Given the description of an element on the screen output the (x, y) to click on. 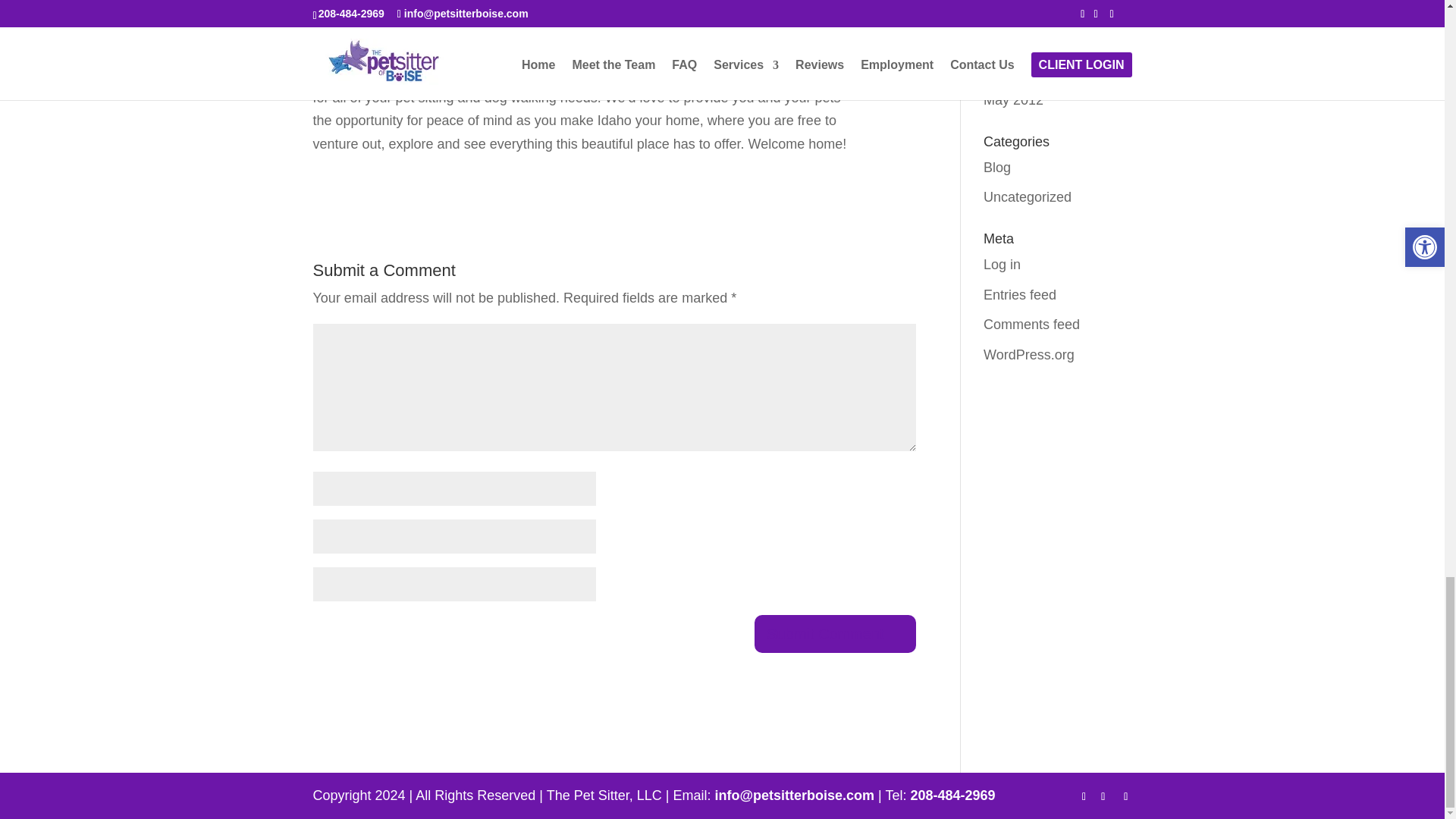
Submit Comment (834, 633)
